Given the description of an element on the screen output the (x, y) to click on. 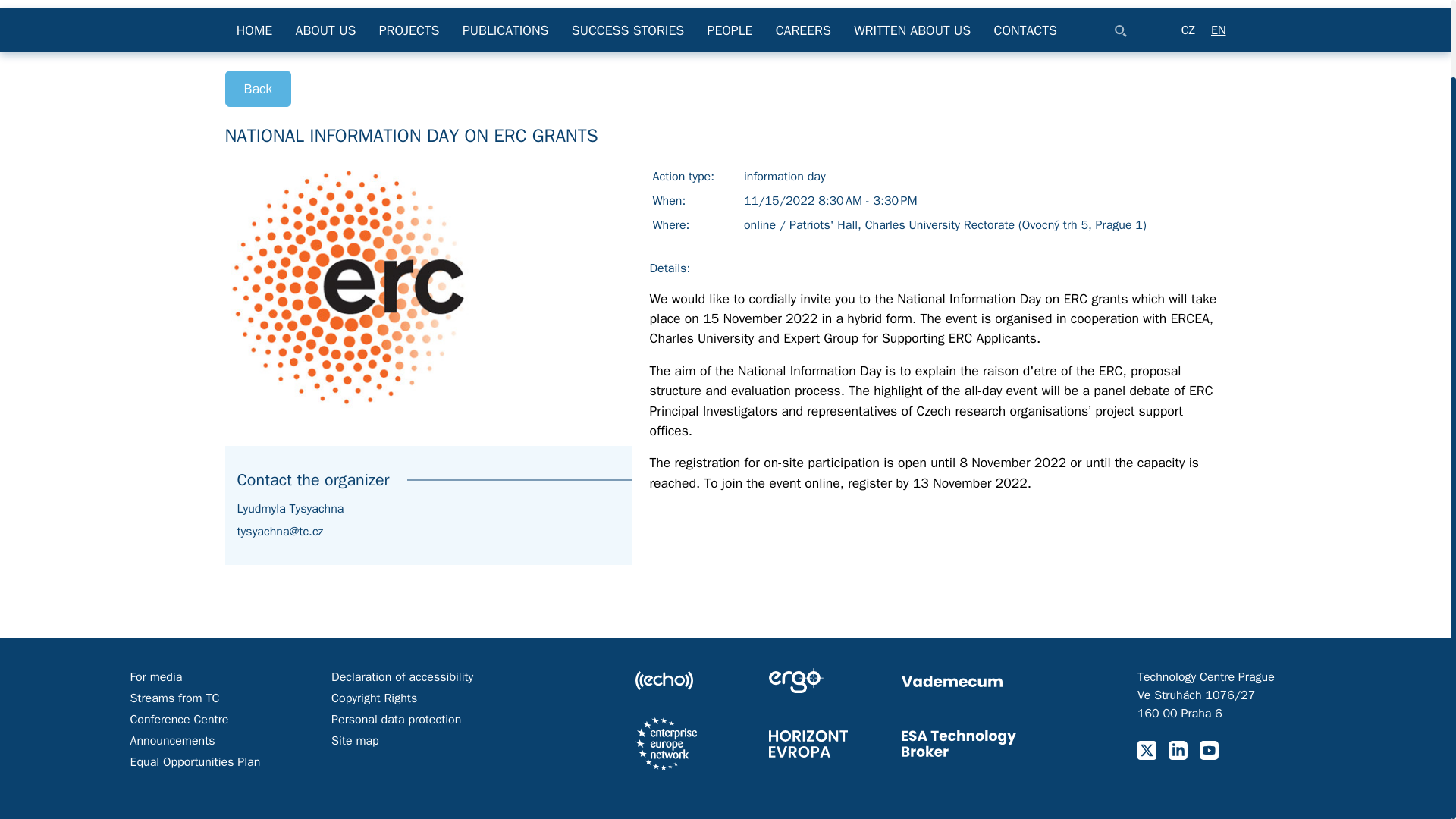
CAREERS (803, 30)
SUCCESS STORIES (627, 30)
WRITTEN ABOUT US (912, 30)
Equal Opportunities Plan (194, 761)
Streams from TC (174, 698)
EN (1218, 29)
HOME (253, 30)
CZ (1187, 29)
Announcements (171, 740)
Site map (354, 740)
PROJECTS (409, 30)
Back (257, 88)
Declaration of accessibility (402, 676)
ABOUT US (324, 30)
For media (155, 676)
